Given the description of an element on the screen output the (x, y) to click on. 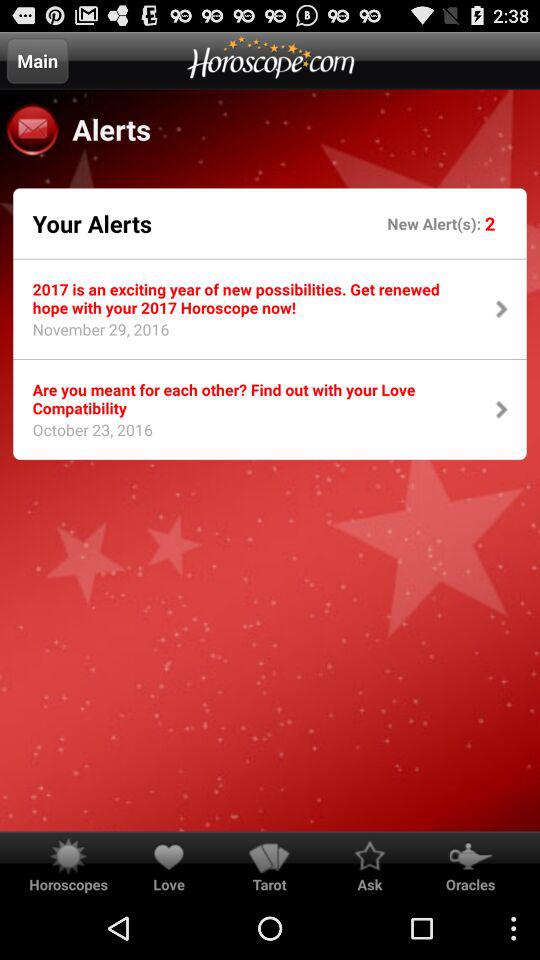
choose item above the 2017 is an item (91, 223)
